Given the description of an element on the screen output the (x, y) to click on. 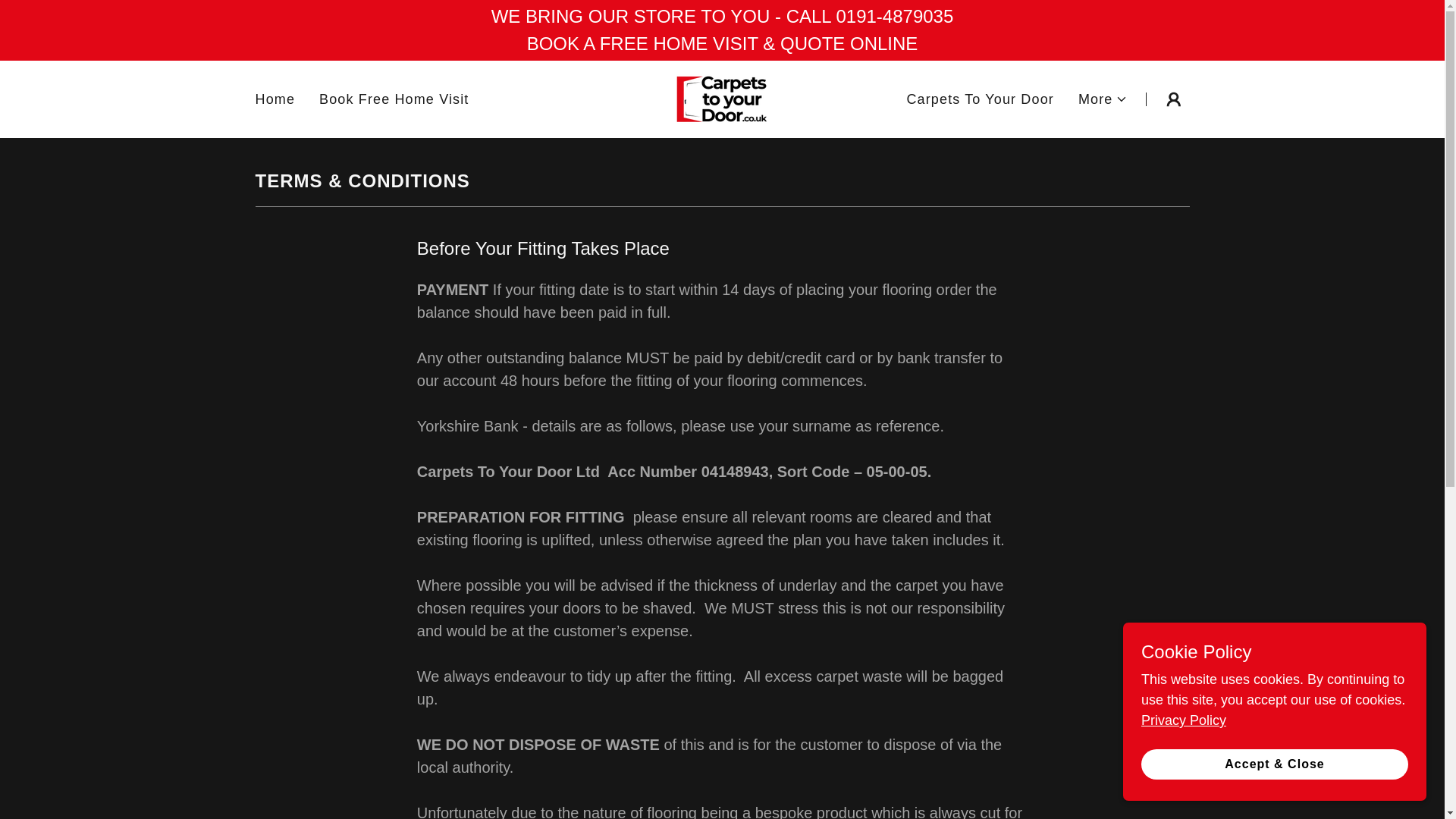
Home (274, 99)
Book Free Home Visit (393, 99)
Carpets To Your Door (979, 99)
More (1103, 99)
